Given the description of an element on the screen output the (x, y) to click on. 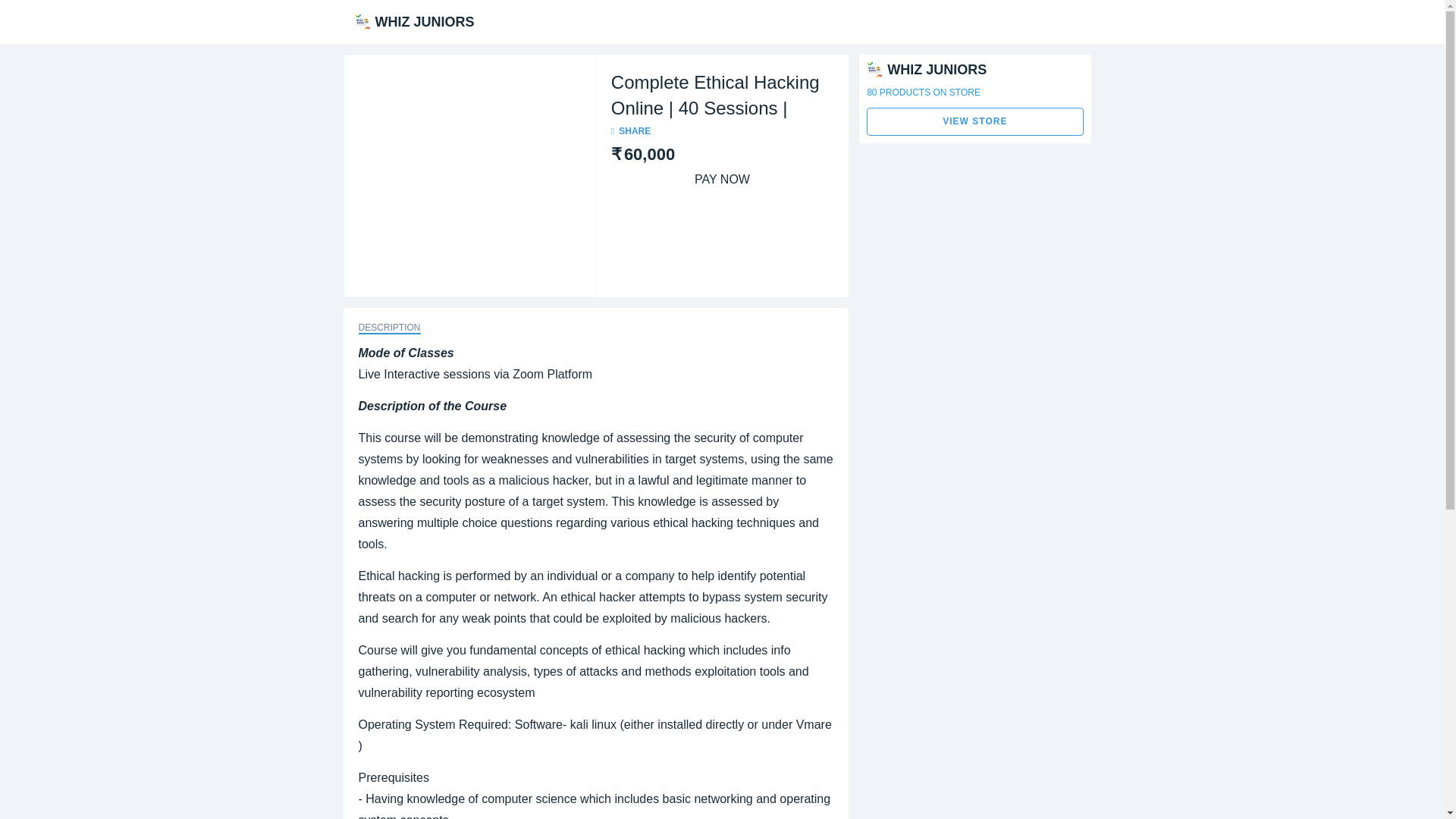
80 PRODUCTS ON STORE (974, 106)
WHIZ JUNIORS (414, 20)
WHIZ JUNIORS (926, 68)
PAY NOW (721, 179)
VIEW STORE (974, 121)
